Given the description of an element on the screen output the (x, y) to click on. 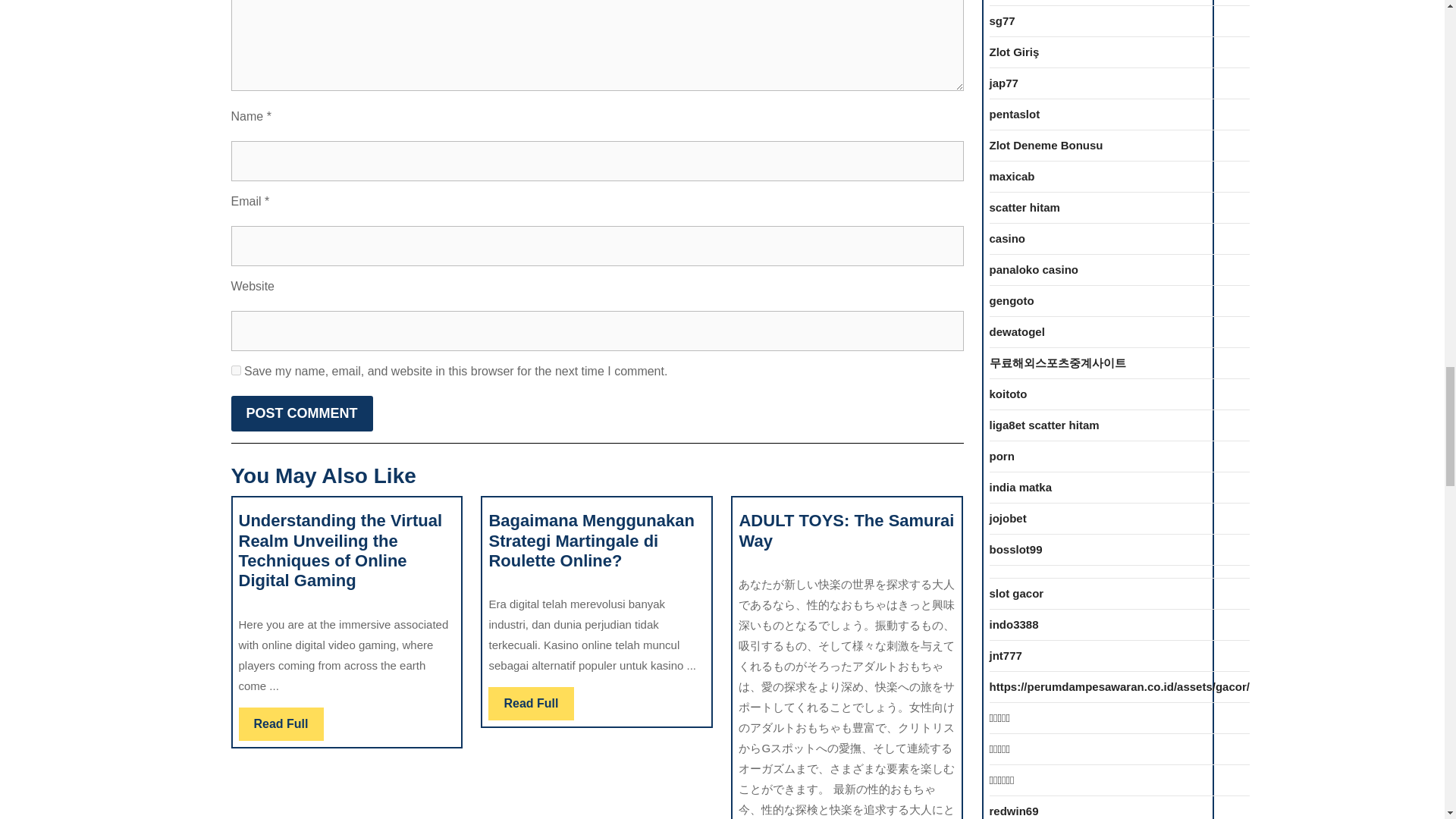
yes (235, 370)
Post Comment (530, 703)
Post Comment (280, 724)
